Given the description of an element on the screen output the (x, y) to click on. 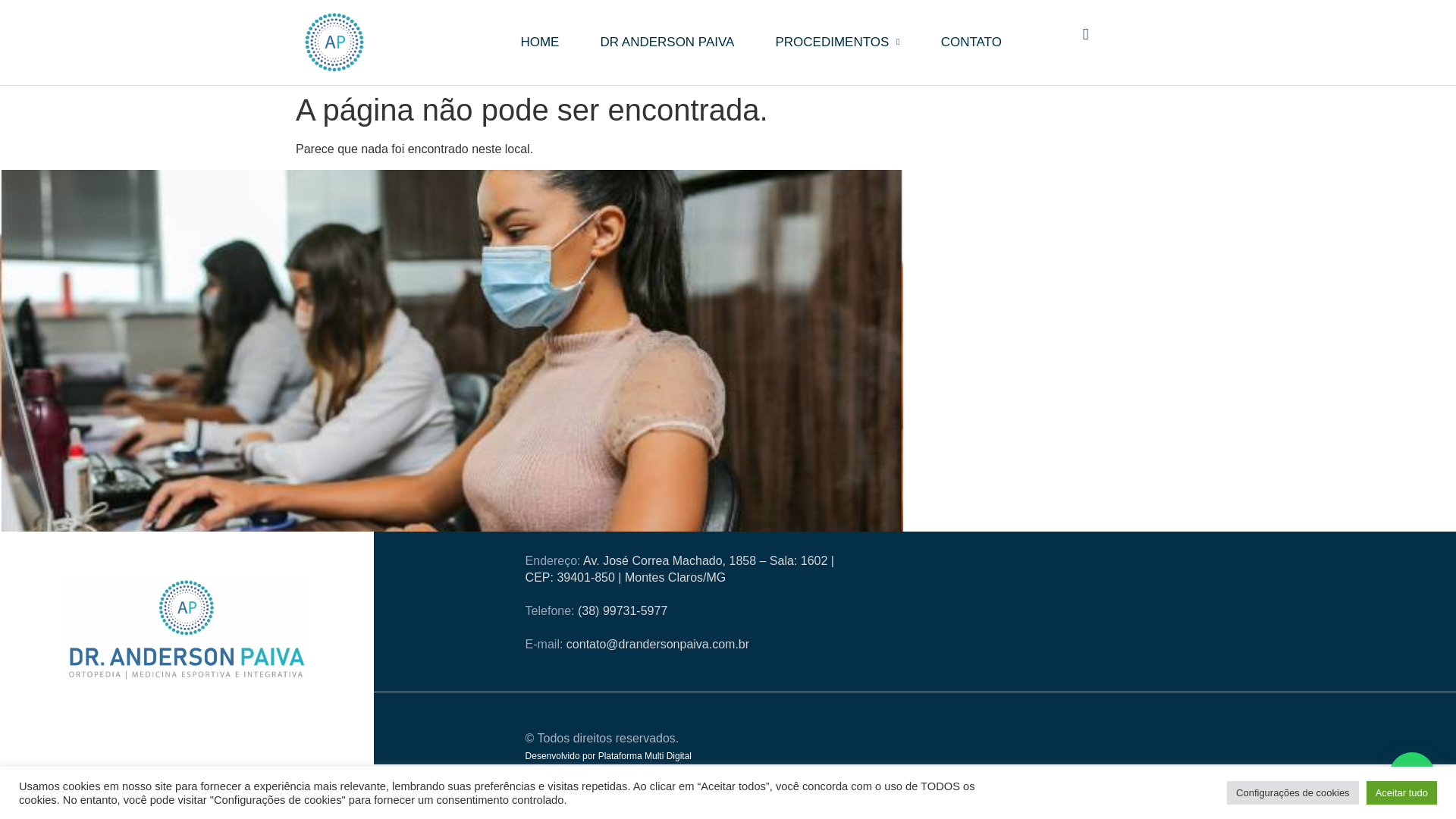
Desenvolvido por Plataforma Multi Digital (608, 756)
DR ANDERSON PAIVA (666, 42)
HOME (539, 42)
PROCEDIMENTOS (837, 42)
CONTATO (971, 42)
